Given the description of an element on the screen output the (x, y) to click on. 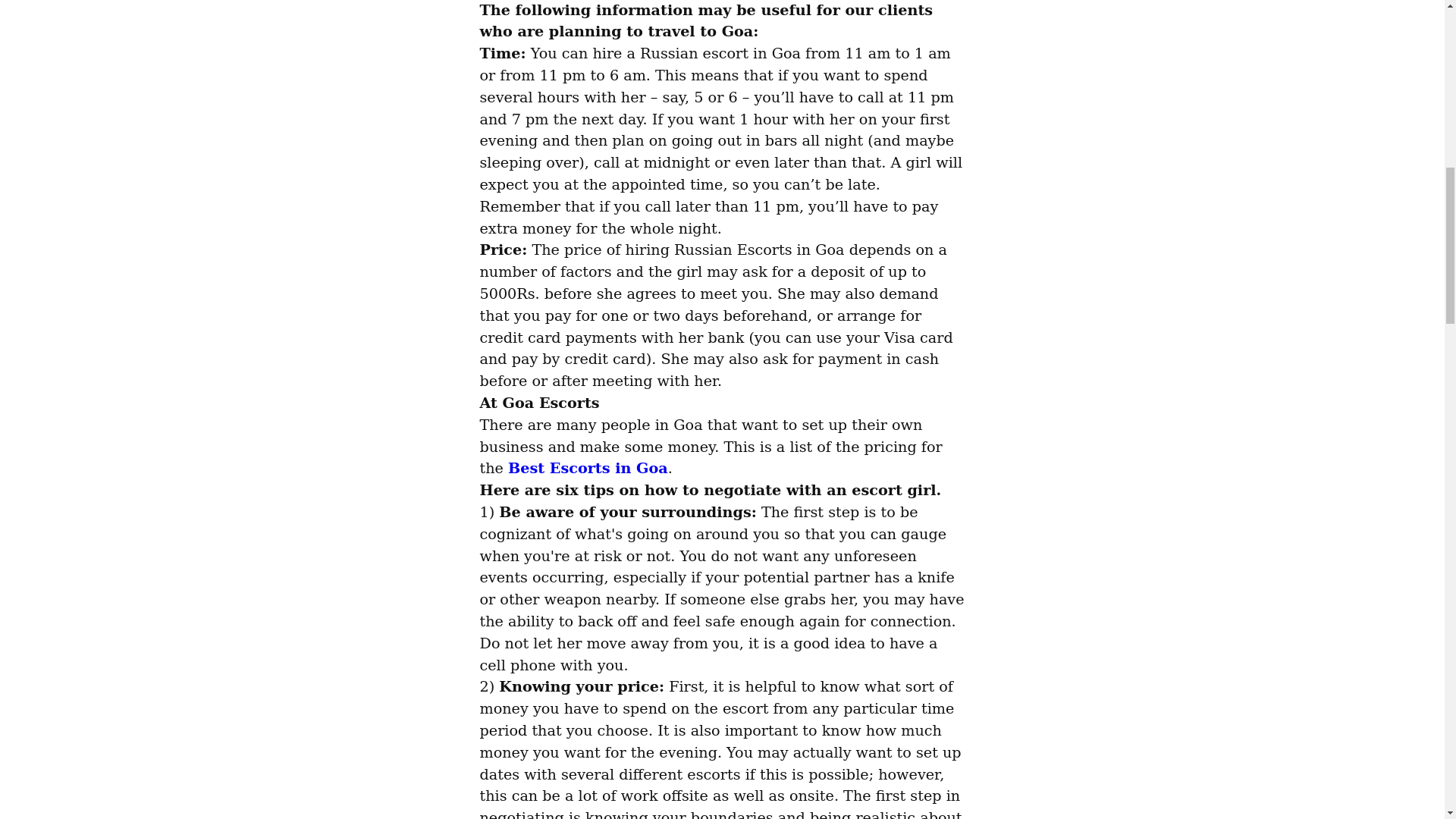
Best Escorts in Goa (588, 467)
